Given the description of an element on the screen output the (x, y) to click on. 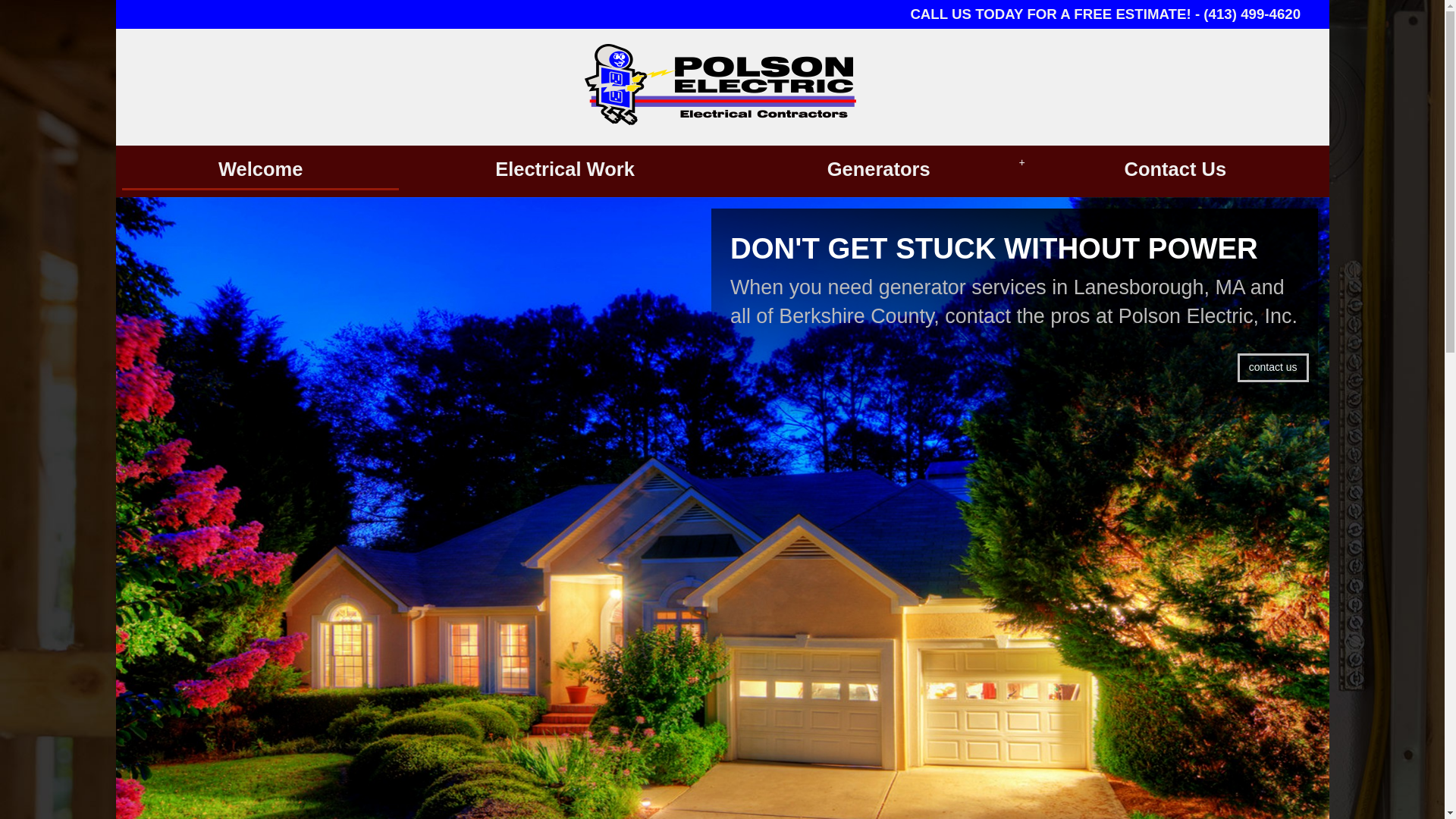
Contact Us (1174, 169)
Electrical Work (564, 169)
Welcome (260, 170)
Contact Us (1174, 169)
Welcome (260, 170)
contact us (1272, 367)
Electrical Work (564, 169)
Generators (878, 169)
